Given the description of an element on the screen output the (x, y) to click on. 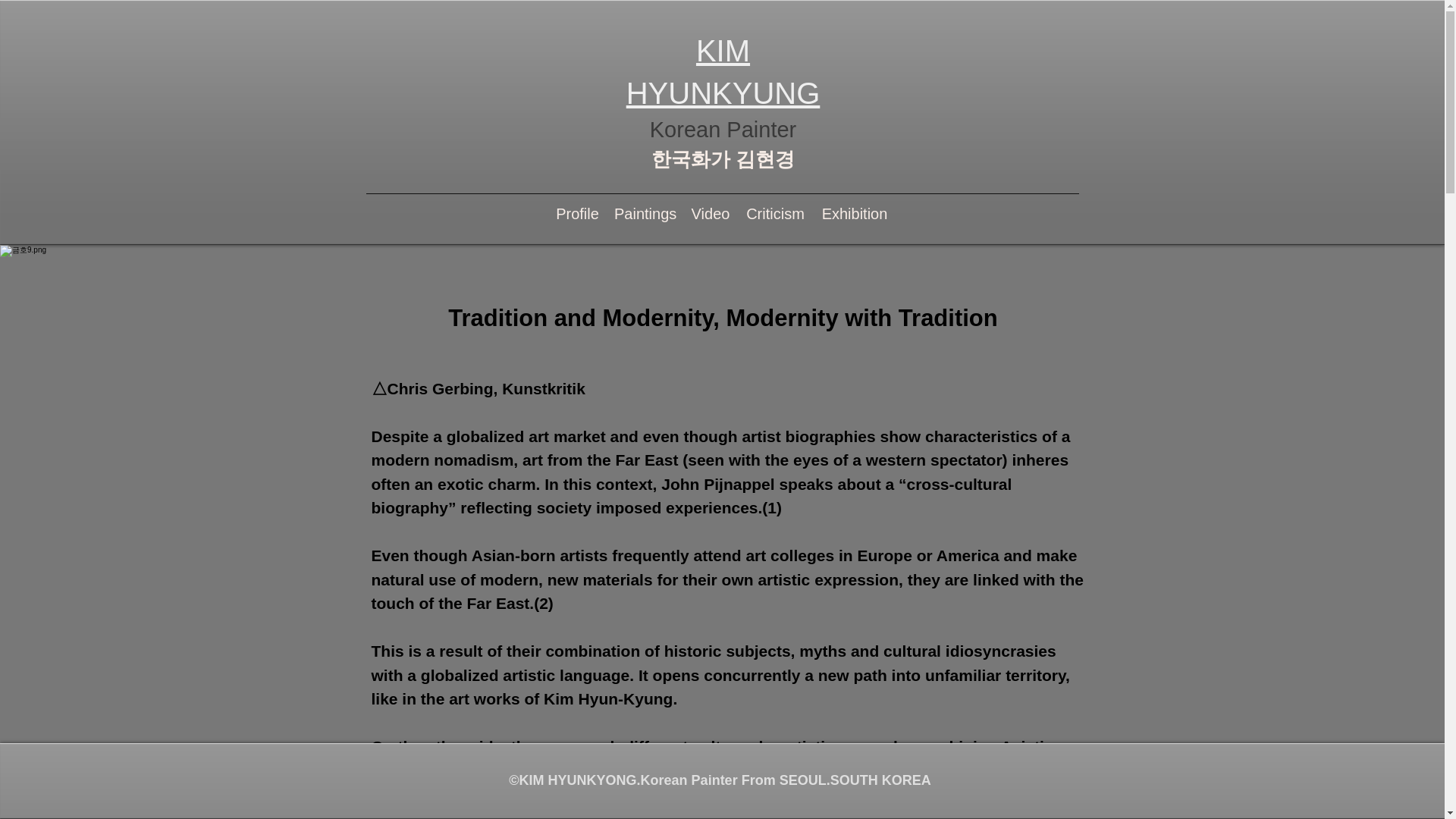
KIM HYUNKYUNG (723, 71)
Paintings (644, 213)
Profile (577, 213)
Criticism (775, 213)
Exhibition (854, 213)
Video (710, 213)
